Given the description of an element on the screen output the (x, y) to click on. 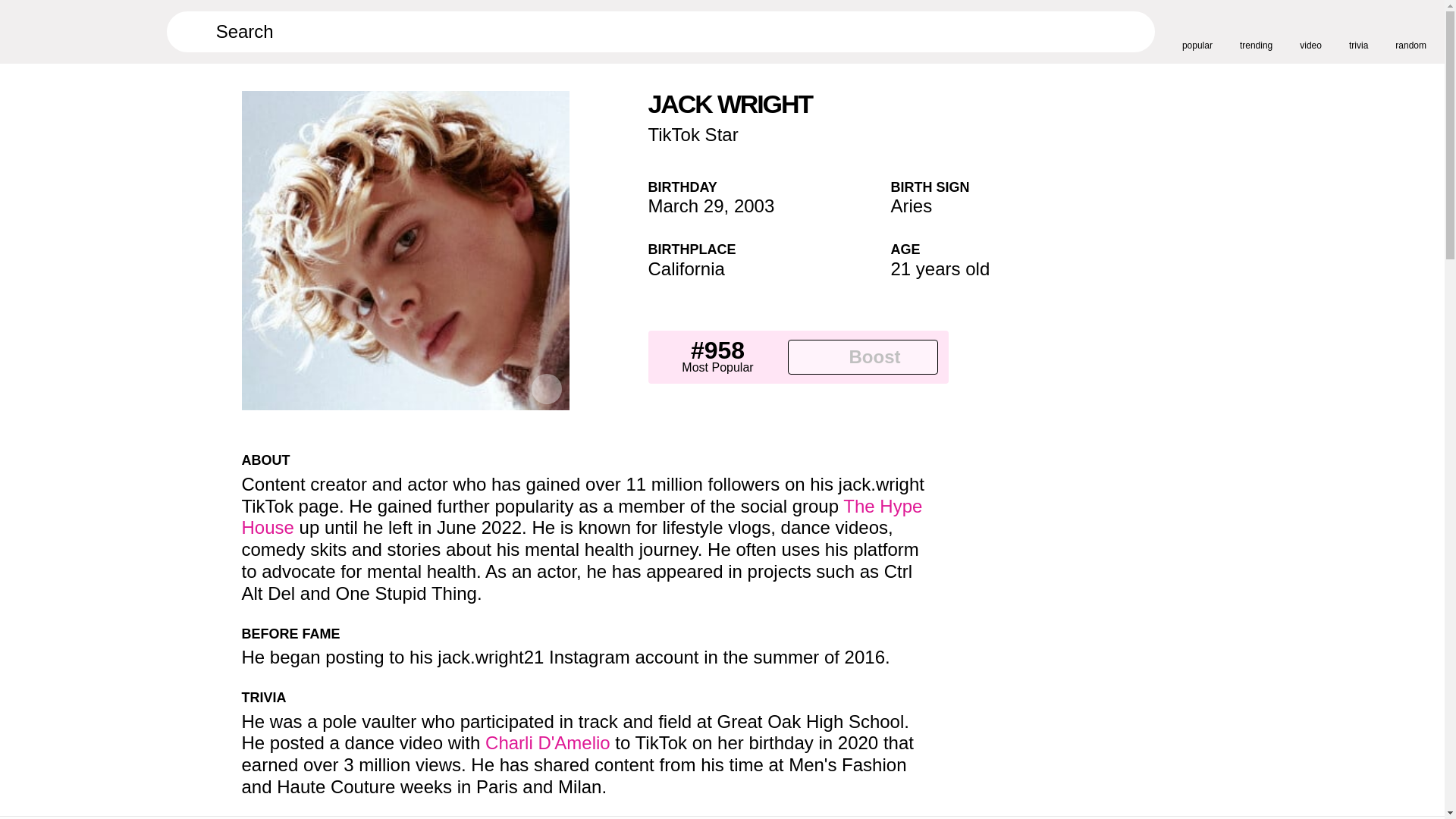
California (685, 268)
2003 (753, 205)
Charli D'Amelio (547, 742)
21 years old (939, 268)
Boost (862, 356)
Aries (910, 205)
The Hype House (581, 517)
March 29 (685, 205)
TikTok Star (692, 134)
